Given the description of an element on the screen output the (x, y) to click on. 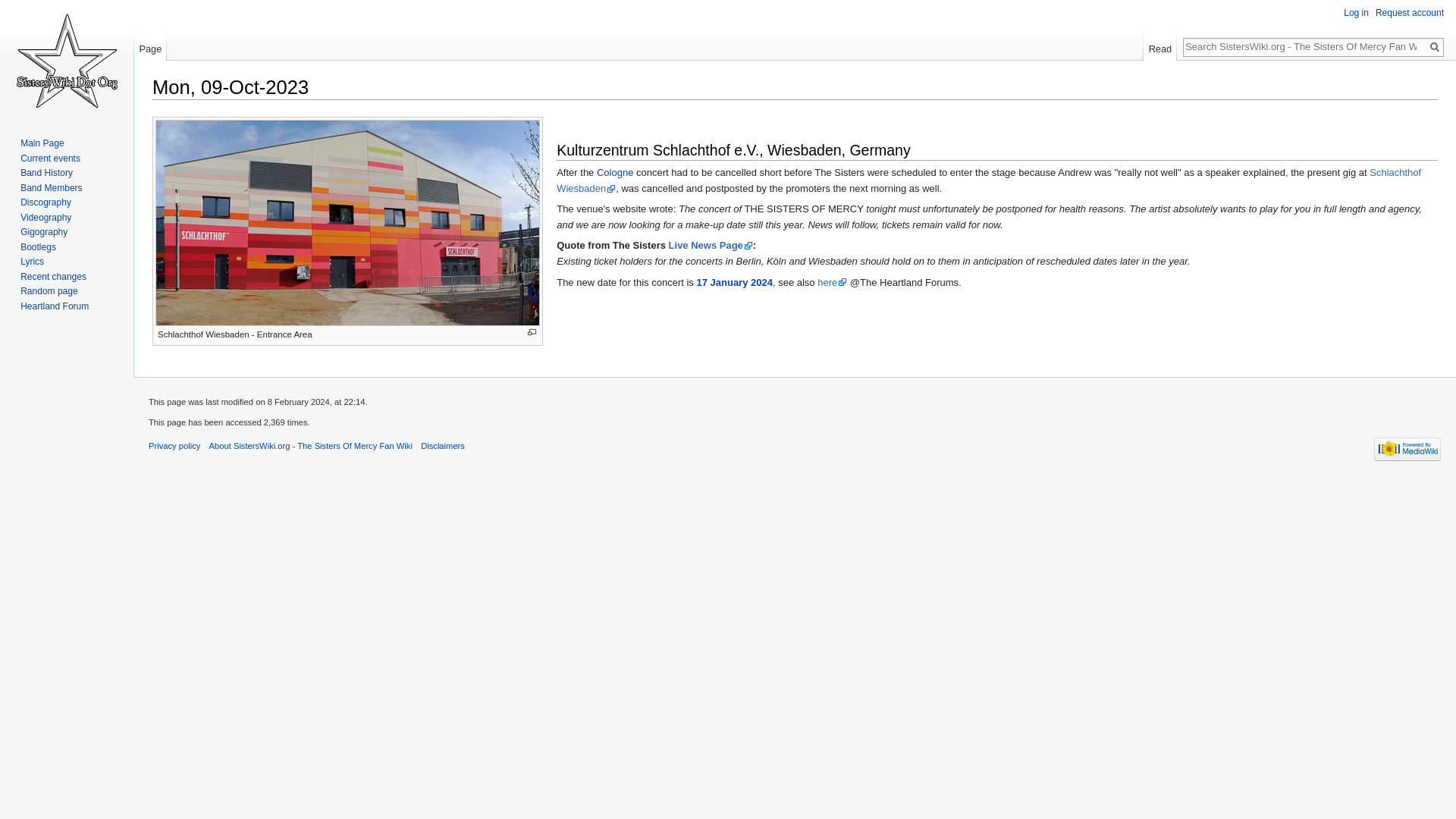
Go (1434, 46)
Go to a page with this exact name if it exists (1434, 46)
Cologne (614, 172)
Find background information on current events (50, 158)
About SistersWiki.org - The Sisters Of Mercy Fan Wiki (310, 445)
Sisters Wiki:General disclaimer (442, 445)
Bootlegs (38, 245)
Current events (50, 158)
Band History (46, 172)
Recent changes (52, 276)
